Given the description of an element on the screen output the (x, y) to click on. 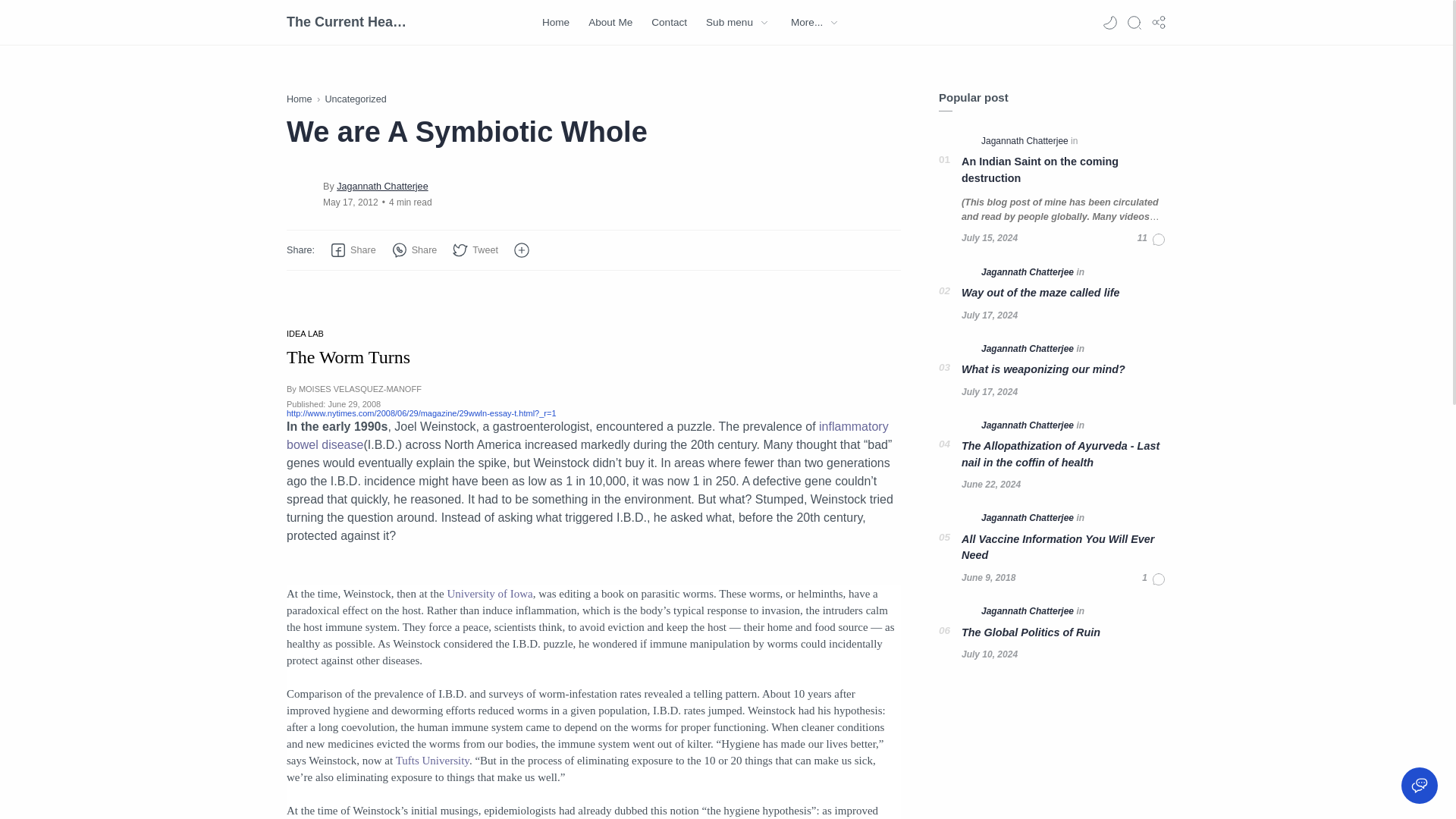
Contact (668, 22)
Share to Twitter (474, 250)
Share to Facebook (352, 250)
About Me (609, 22)
The Current Health Scenario (346, 22)
Home (299, 99)
Home (555, 22)
Share to Whatsapp (414, 250)
More articles about University of Iowa (489, 593)
More articles about Tufts University (432, 760)
Published: May 17, 2012 (350, 201)
In-depth reference and news articles about Crohn's disease. (587, 435)
